Given the description of an element on the screen output the (x, y) to click on. 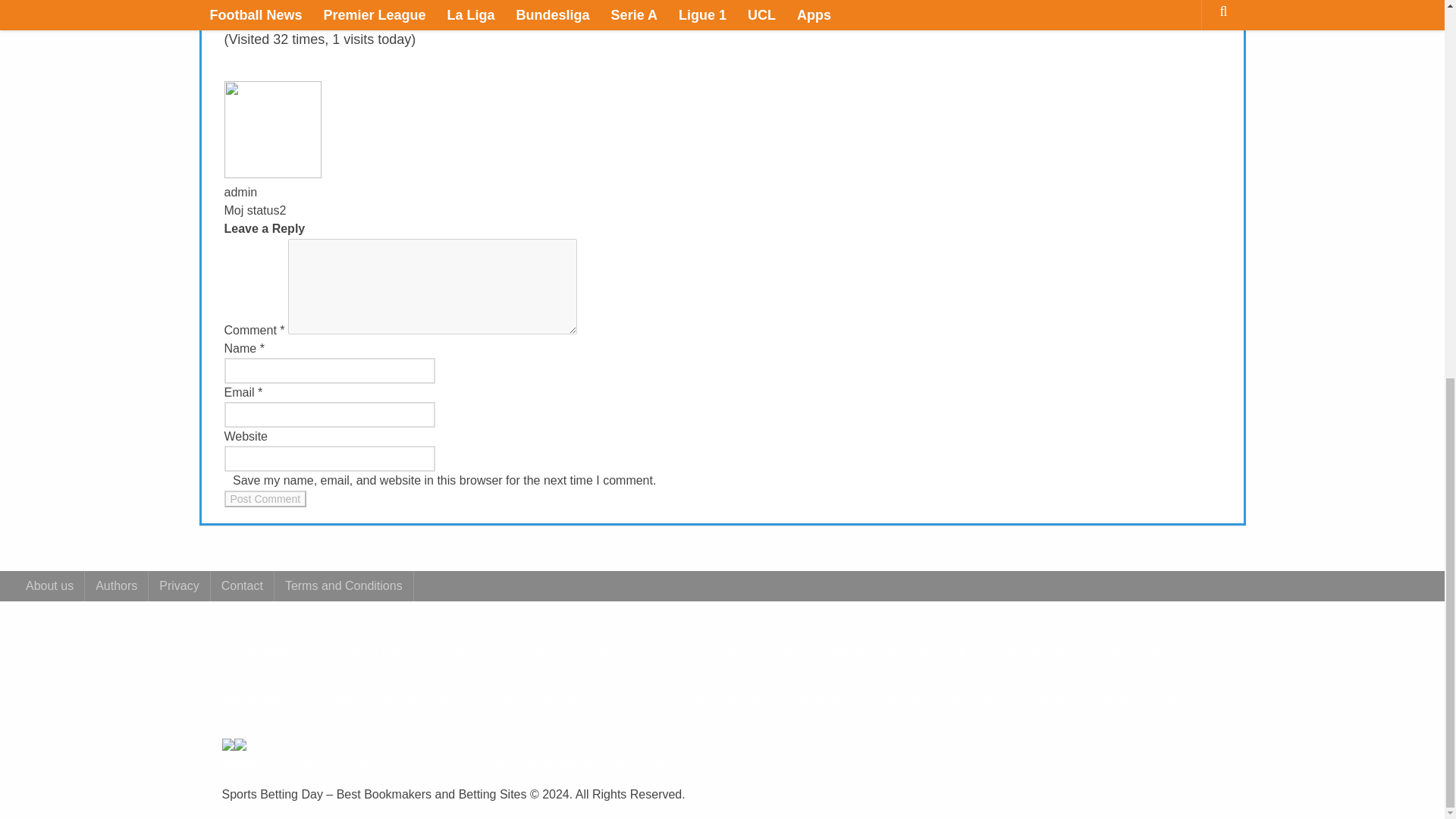
Post Comment (265, 498)
Post Comment (265, 498)
Soccerisma (446, 6)
